Given the description of an element on the screen output the (x, y) to click on. 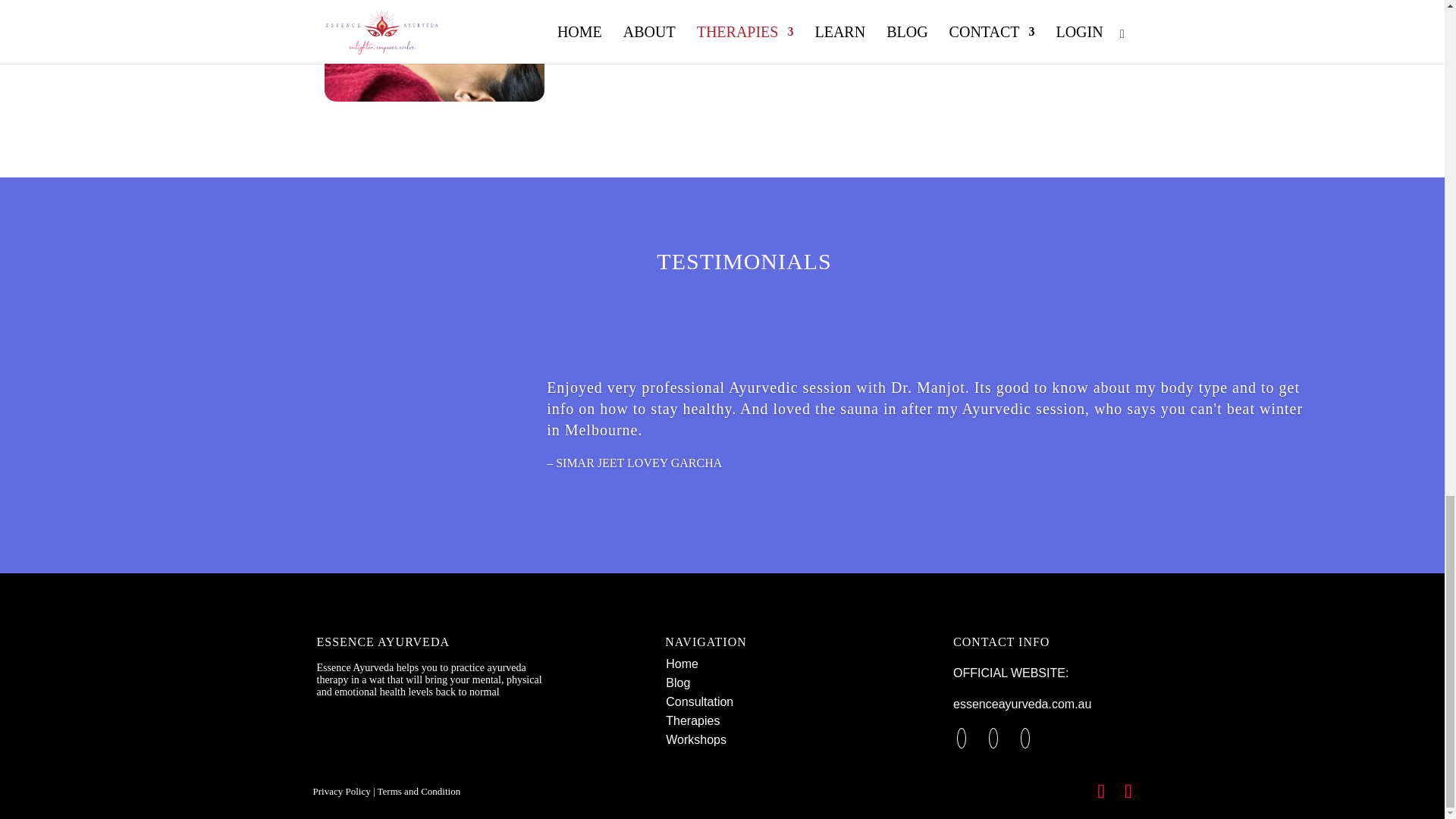
Nasyam (377, 48)
Home (681, 663)
Blog (677, 682)
essenceayurveda.com.au (1021, 703)
Therapies (692, 720)
Workshops (695, 739)
Consultation (699, 701)
